Given the description of an element on the screen output the (x, y) to click on. 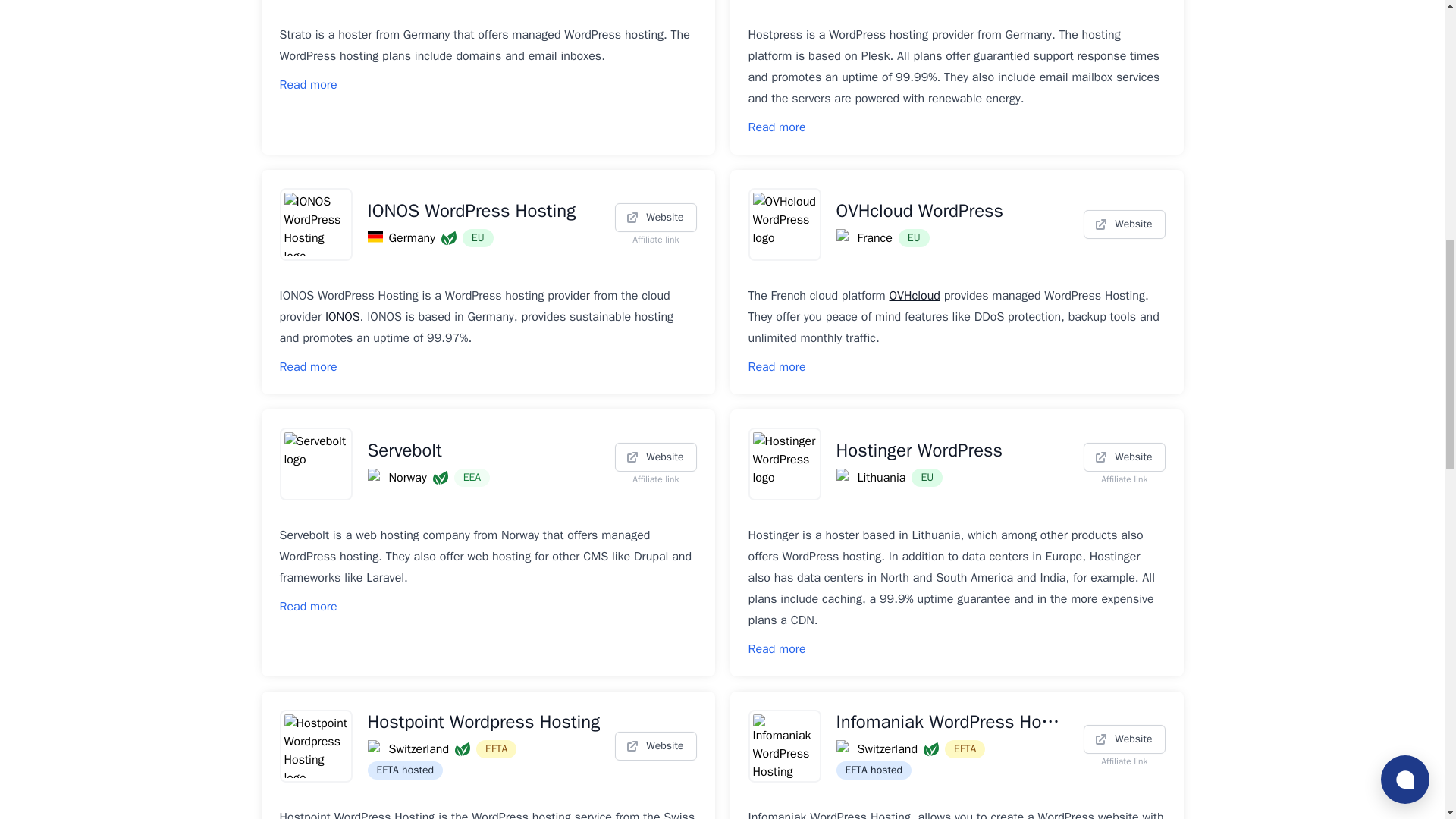
European Union (478, 238)
Website (1123, 457)
European Economic Area (472, 477)
Read more (307, 366)
Read more (307, 606)
Website (1123, 224)
Website (654, 457)
Read more (776, 366)
IONOS (341, 316)
Read more (776, 127)
